Given the description of an element on the screen output the (x, y) to click on. 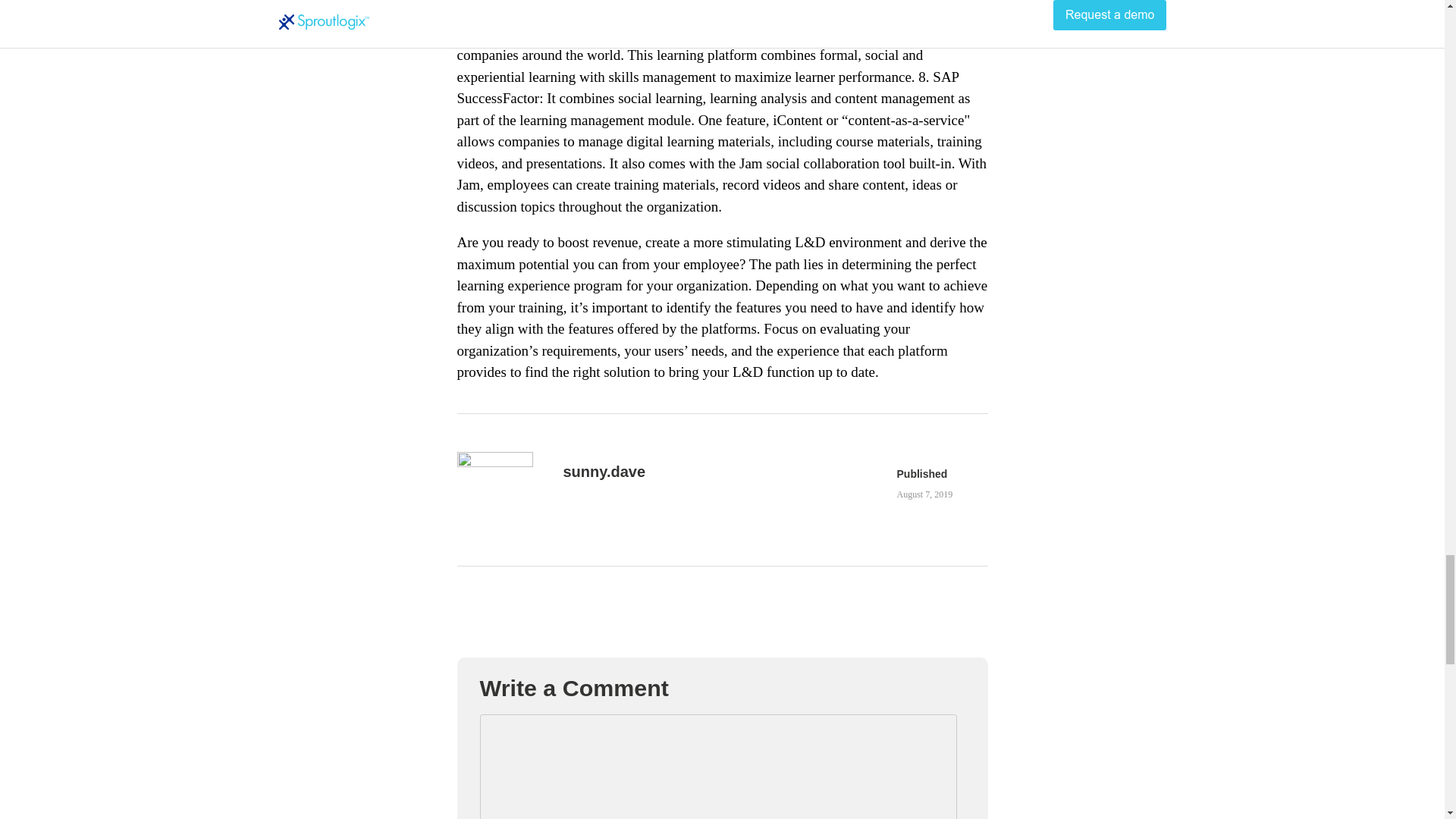
sunny.dave (603, 471)
View all posts by sunny.dave (603, 471)
August 7, 2019 (924, 493)
2019 comparison of the best Learning Experience Platforms (924, 493)
